Given the description of an element on the screen output the (x, y) to click on. 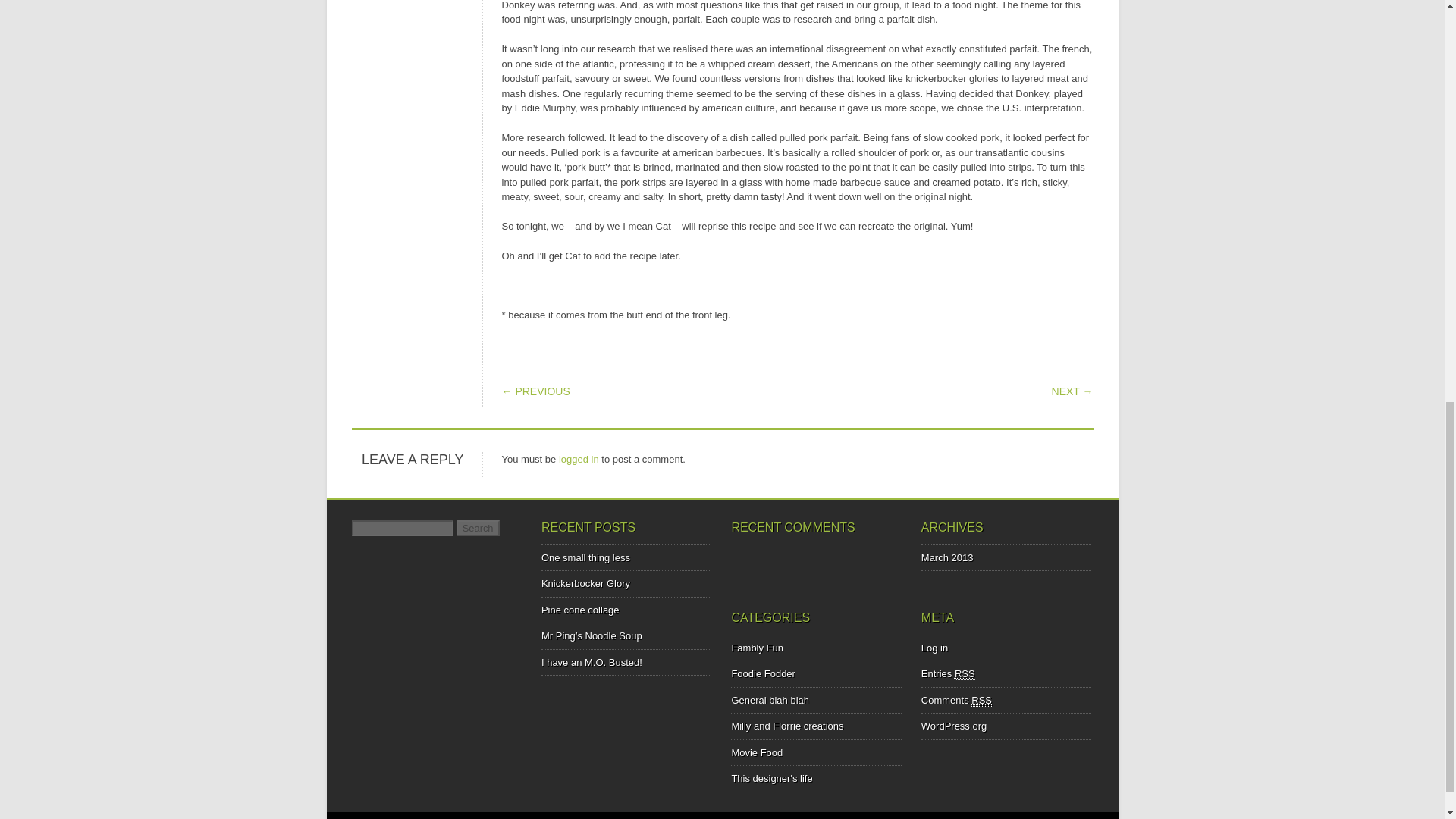
Milly and Florrie creations (786, 726)
Pine cone collage (580, 609)
View all posts filed under Fambly Fun (756, 647)
March 2013 (947, 557)
Knickerbocker Glory (585, 583)
View all posts filed under Milly and Florrie creations (786, 726)
Comments RSS (956, 700)
Movie Food (756, 752)
General blah blah (769, 699)
Search (478, 528)
Entries RSS (948, 674)
logged in (578, 459)
I have an M.O. Busted! (591, 662)
Search (478, 528)
